Given the description of an element on the screen output the (x, y) to click on. 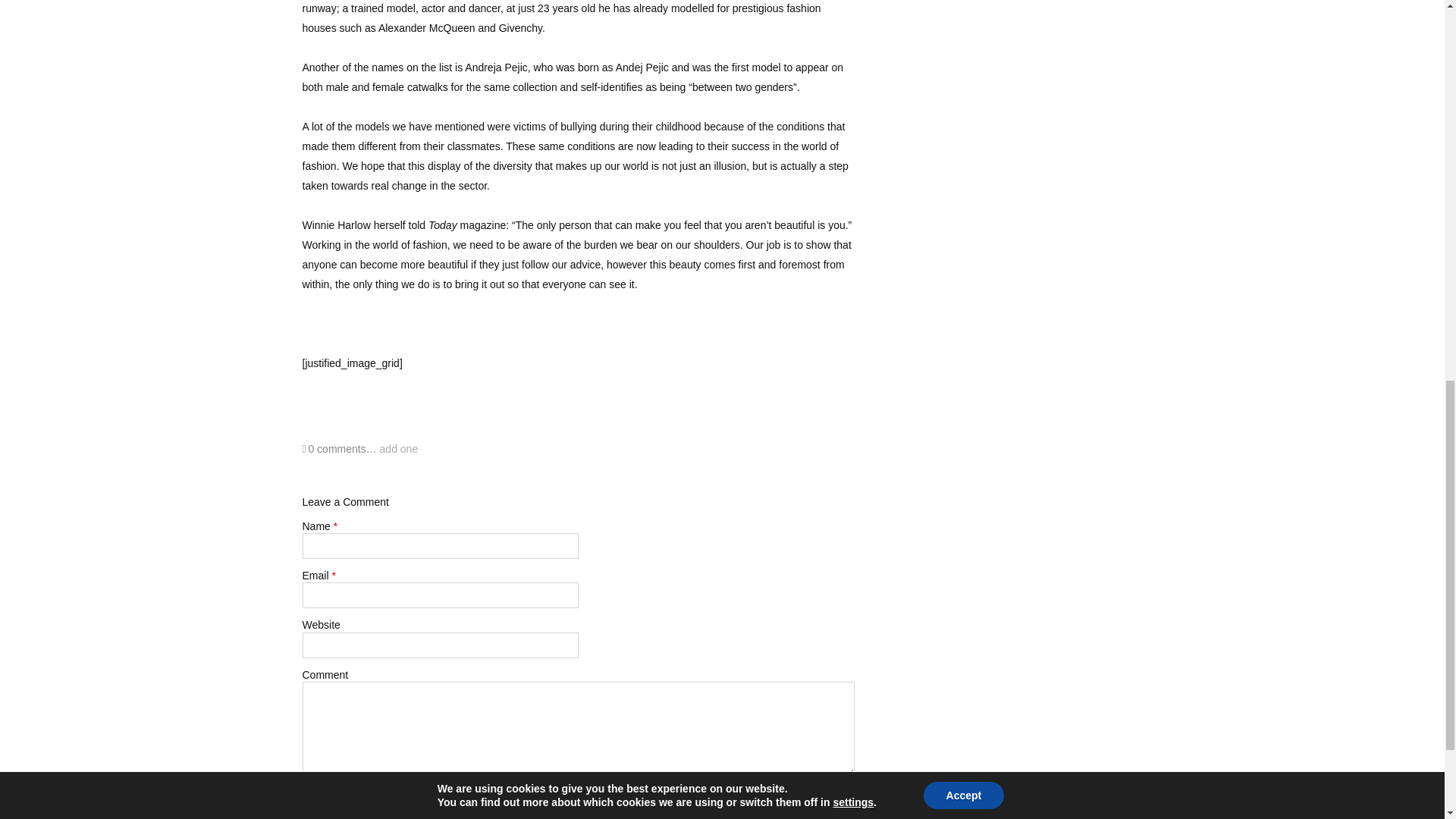
add one (399, 449)
Submit (328, 798)
Submit (328, 798)
